Given the description of an element on the screen output the (x, y) to click on. 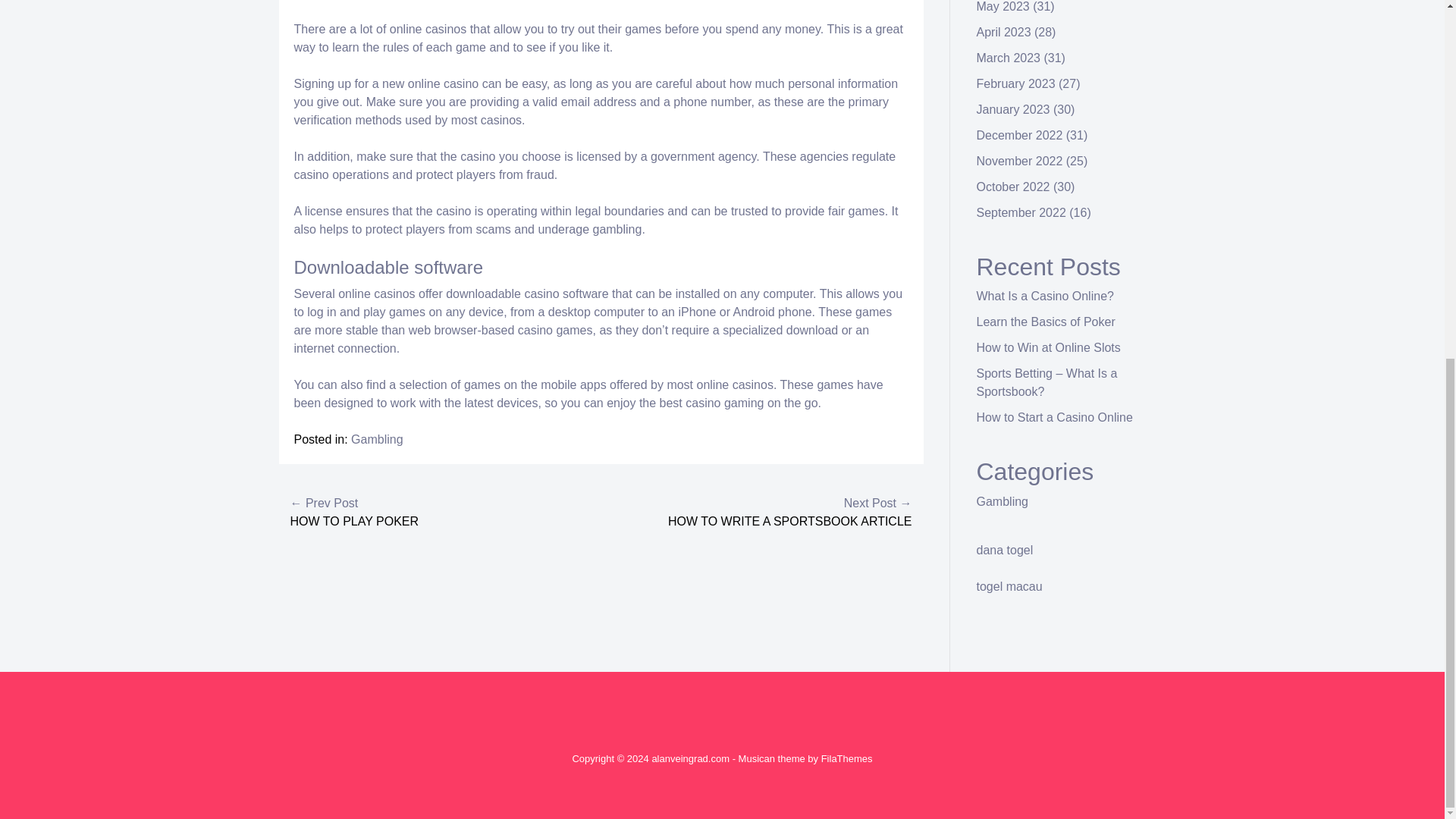
October 2022 (1012, 186)
What Is a Casino Online? (1044, 295)
March 2023 (1008, 57)
November 2022 (1019, 160)
Gambling (376, 439)
How to Start a Casino Online (1054, 417)
December 2022 (1019, 134)
February 2023 (1015, 83)
How to Win at Online Slots (1048, 347)
Gambling (1001, 501)
